Given the description of an element on the screen output the (x, y) to click on. 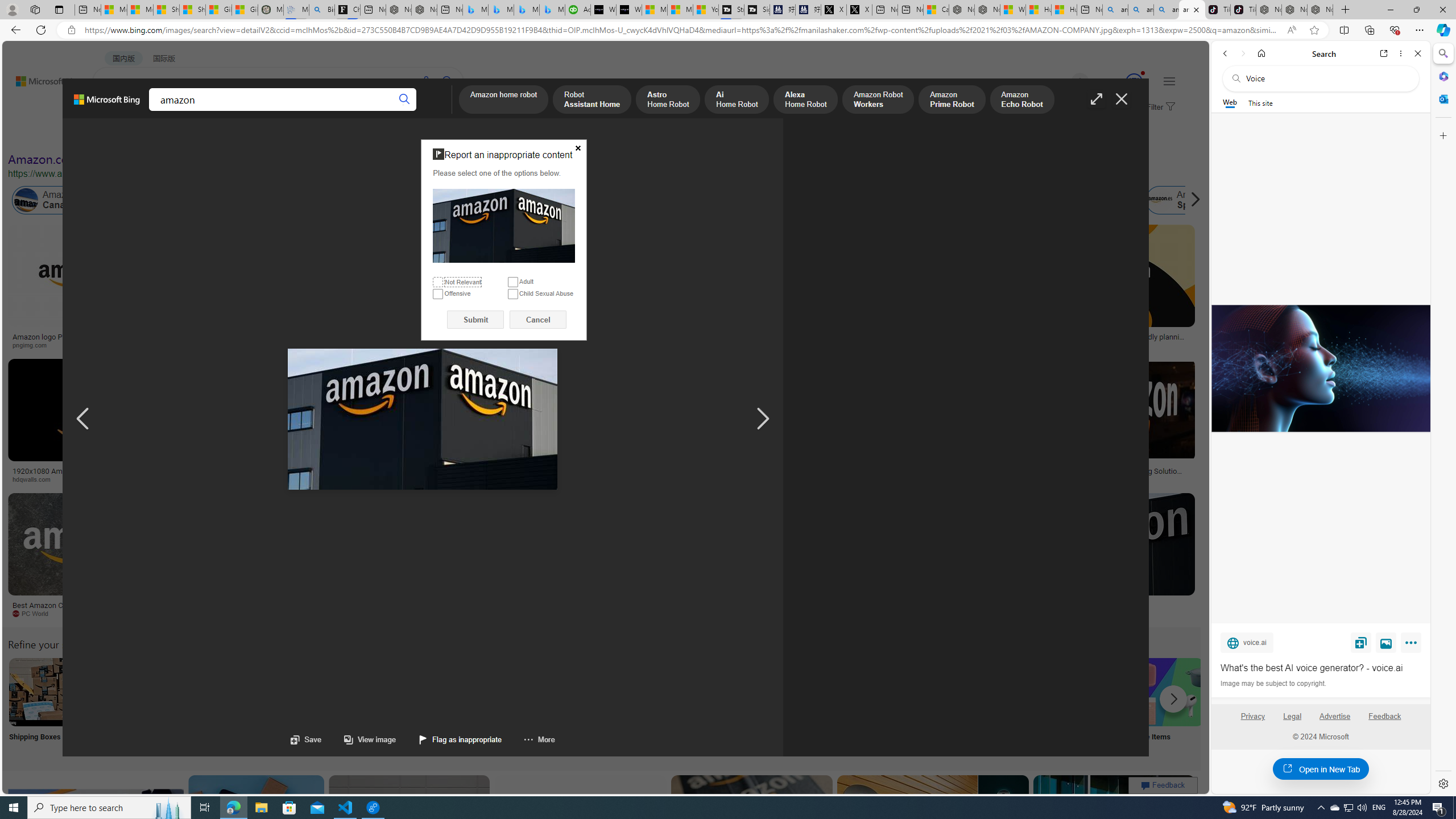
WEB (114, 111)
Amazon India (483, 200)
Report an inappropriate content (503, 226)
Marketplace (397, 479)
This site scope (1259, 102)
Long Island Press (593, 479)
VIDEOS (260, 111)
Offensive (437, 293)
